Given the description of an element on the screen output the (x, y) to click on. 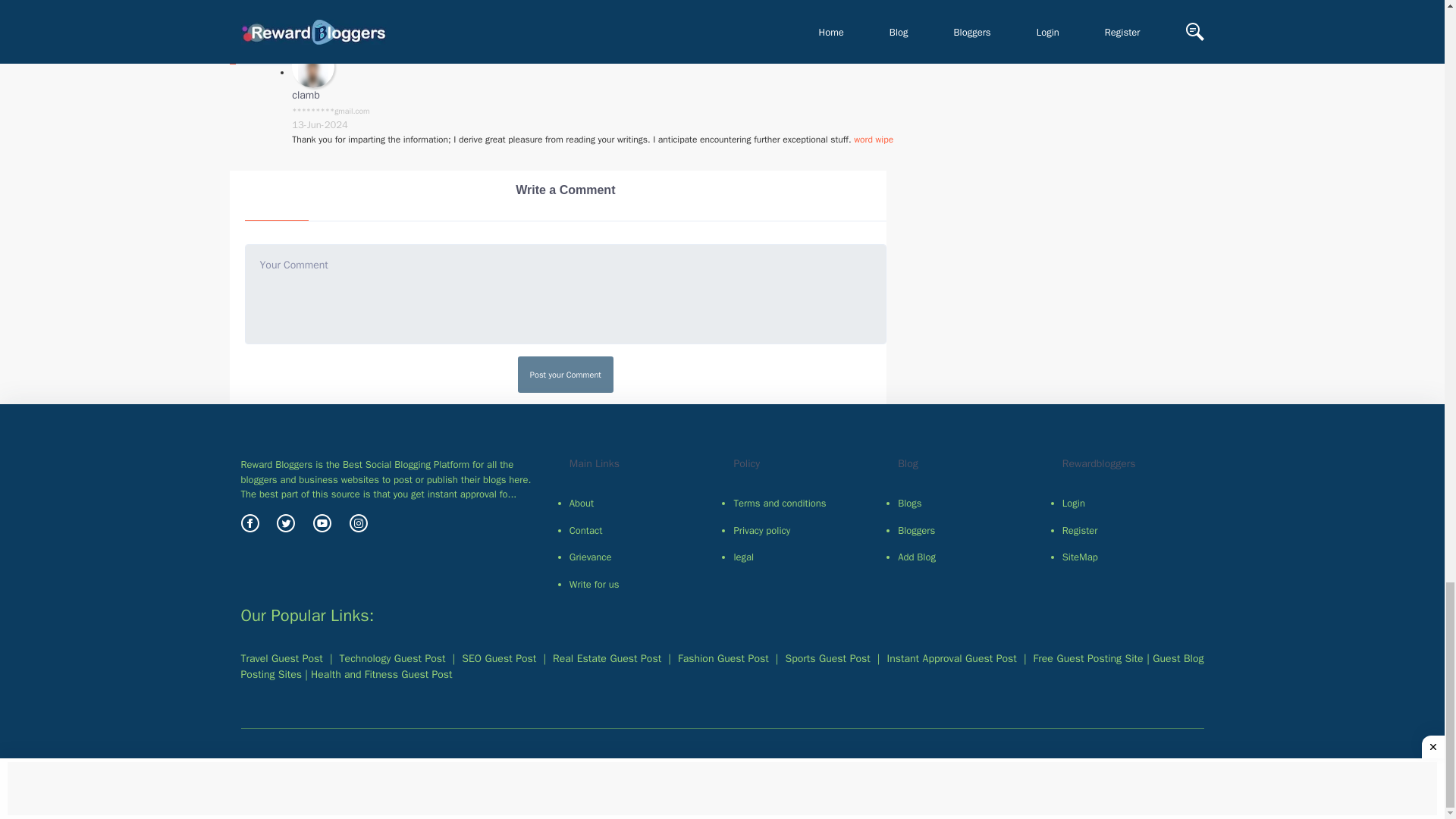
Guest Blog Posting WebSite (722, 665)
Travel Guest Post (282, 658)
Instant Approval Guest Post (951, 658)
Technology Guest Post (392, 658)
word wipe (873, 139)
Sports Guest Post (828, 658)
SEO Guest Post (498, 658)
Free Guest Posting Site (1087, 658)
Fashion Guest Post (723, 658)
Instant Approval Guest Post (381, 674)
